Given the description of an element on the screen output the (x, y) to click on. 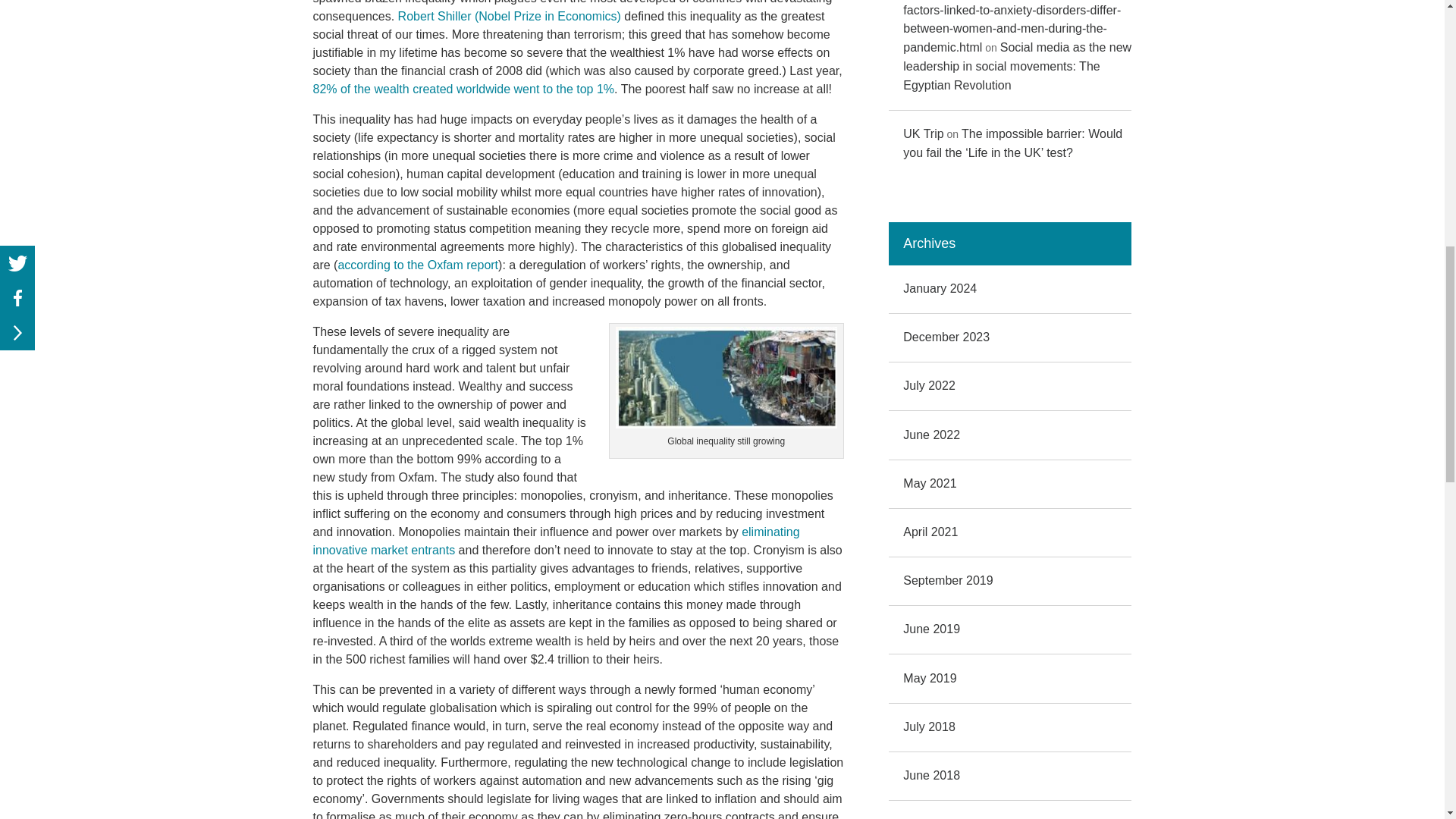
eliminating innovative market entrants (556, 540)
according to the Oxfam report (417, 264)
